Given the description of an element on the screen output the (x, y) to click on. 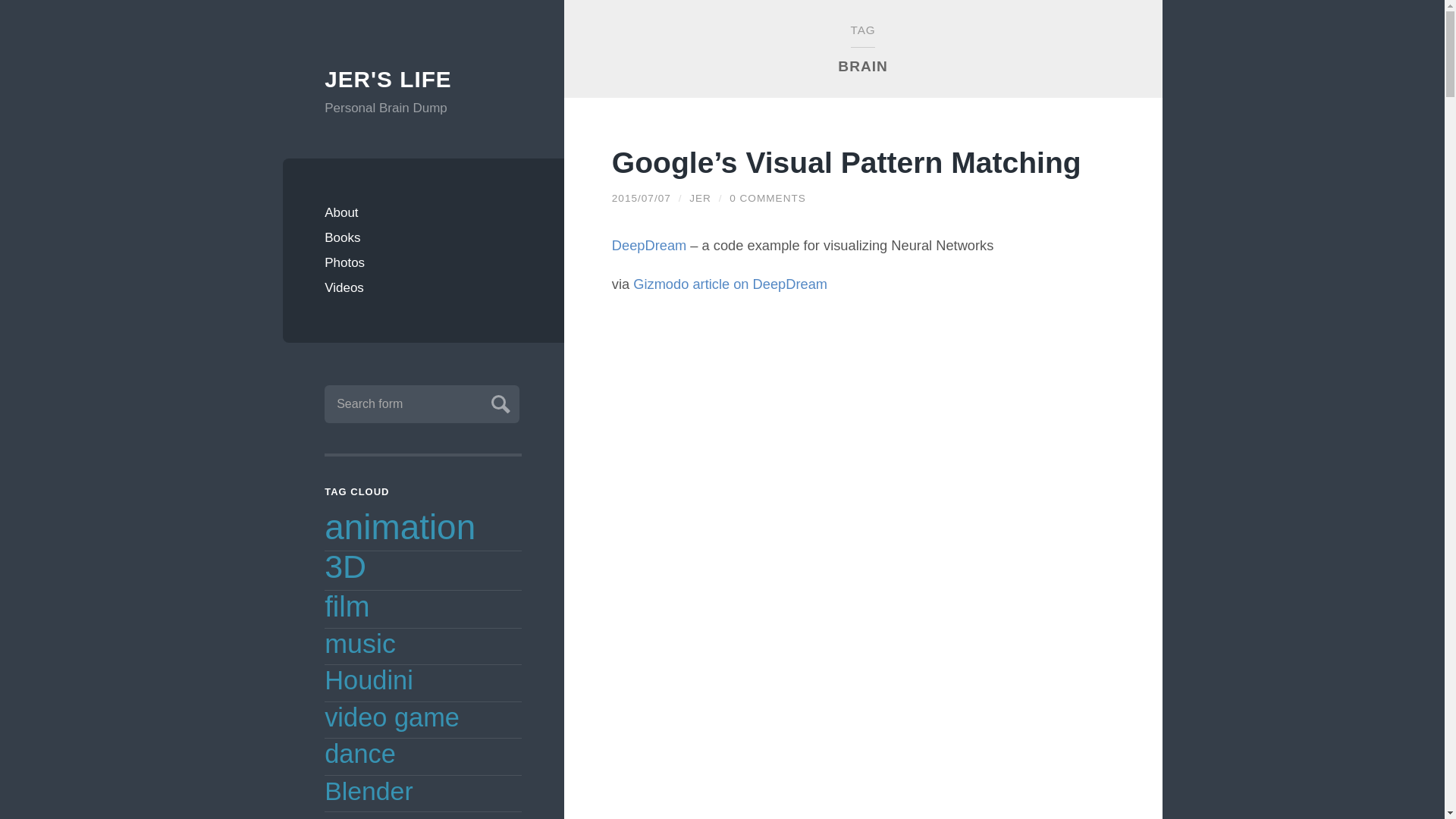
Videos (422, 287)
Photos (422, 262)
About (422, 212)
Houdini (368, 679)
music (360, 643)
Blender (368, 790)
Books (422, 237)
JER'S LIFE (422, 79)
Search (498, 401)
video game (392, 717)
3D (345, 565)
Posts by Jer (699, 197)
2D (340, 816)
animation (400, 526)
dance (360, 753)
